Given the description of an element on the screen output the (x, y) to click on. 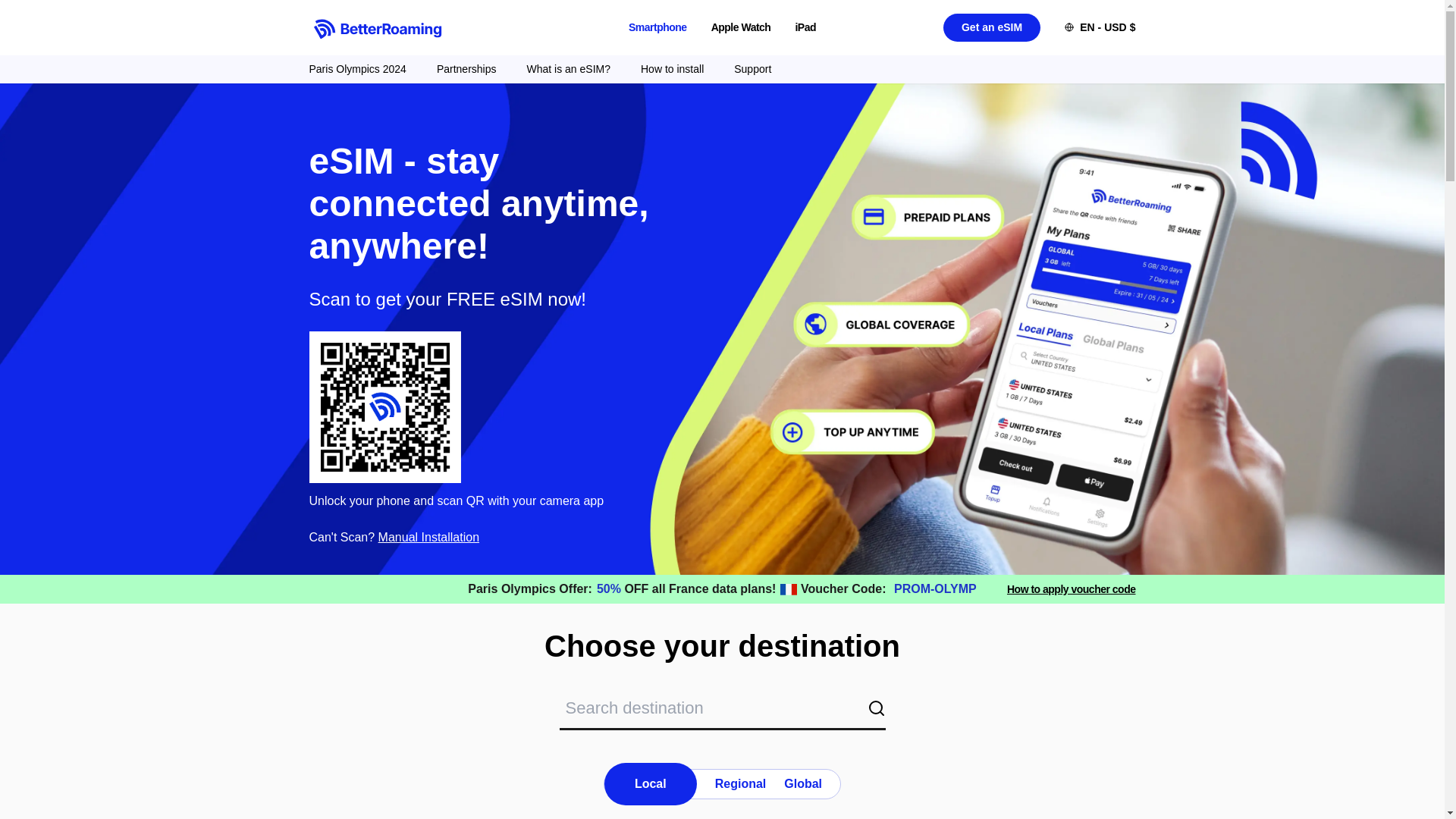
Smartphone (722, 783)
Apple Watch (657, 27)
Manual Installation (741, 27)
Regional (428, 536)
How to install (740, 783)
How to apply voucher code (671, 68)
Global (1071, 588)
Support (803, 783)
Local (752, 68)
Paris Olympics 2024 (650, 783)
What is an eSIM? (357, 68)
iPad (567, 68)
